Given the description of an element on the screen output the (x, y) to click on. 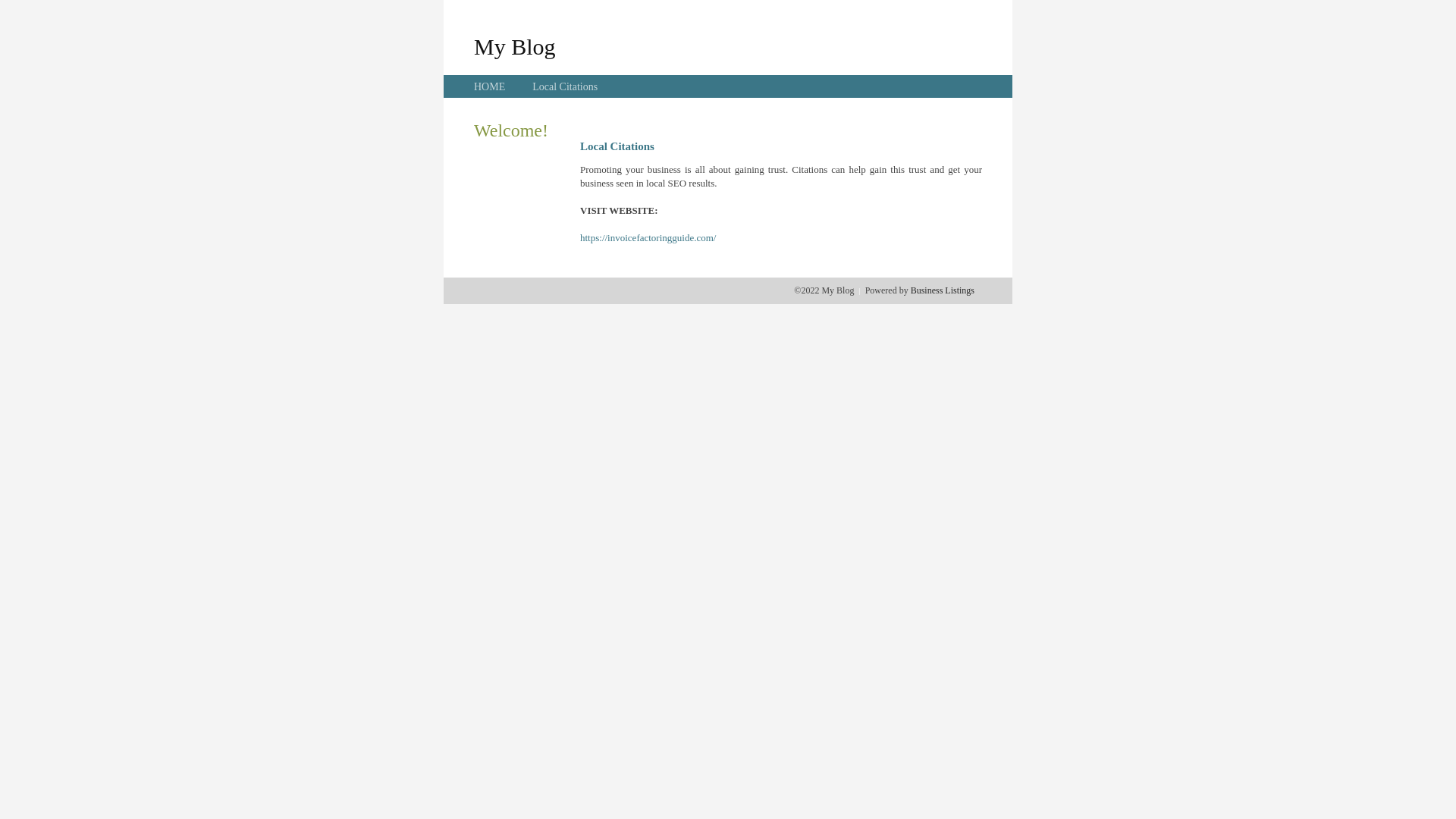
My Blog Element type: text (514, 46)
Local Citations Element type: text (564, 86)
Business Listings Element type: text (942, 290)
https://invoicefactoringguide.com/ Element type: text (647, 237)
HOME Element type: text (489, 86)
